Given the description of an element on the screen output the (x, y) to click on. 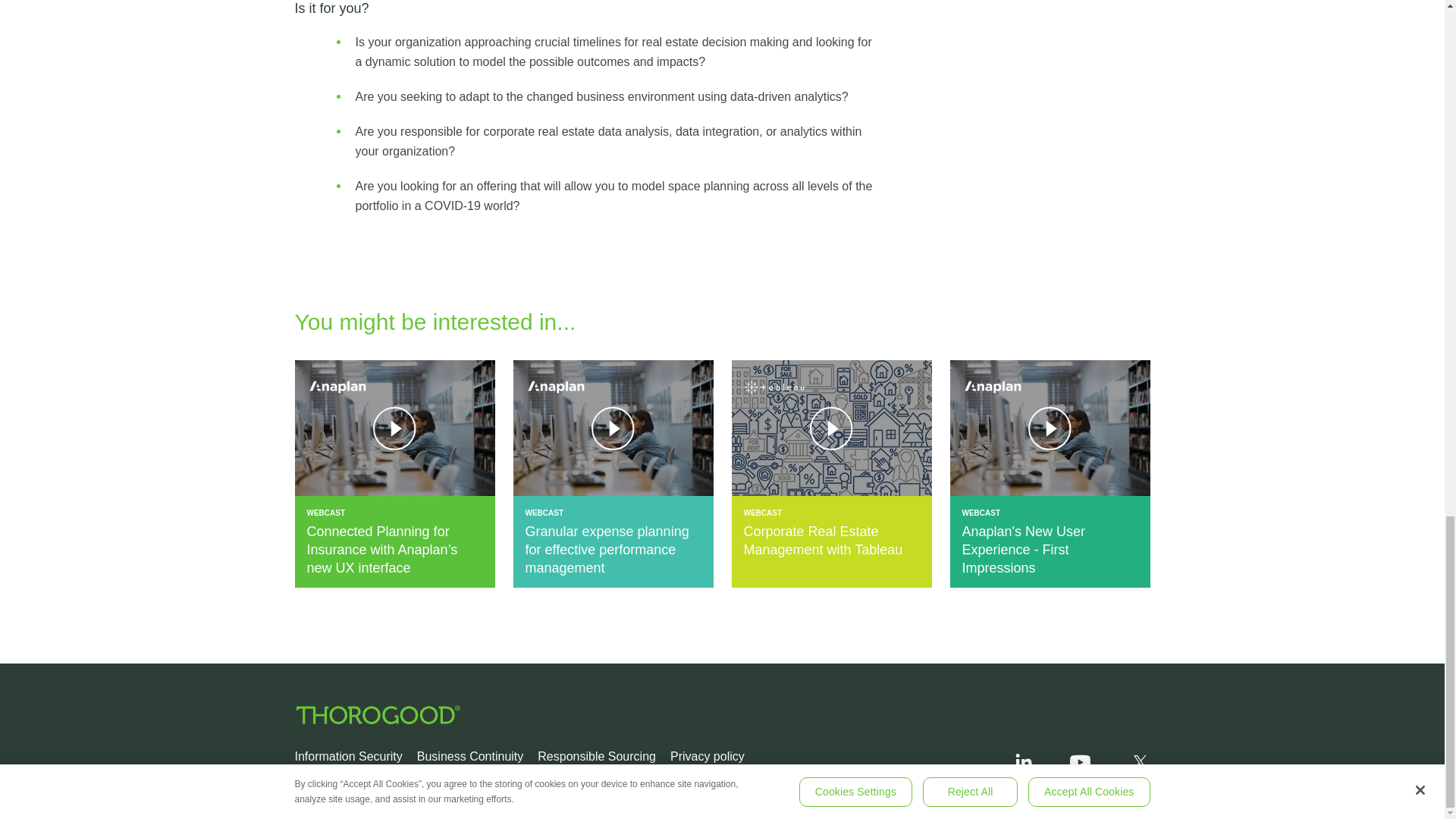
Business Continuity (470, 756)
Information Security (347, 756)
Design Culture (1119, 801)
Privacy policy (706, 756)
Responsible Sourcing (596, 756)
